Given the description of an element on the screen output the (x, y) to click on. 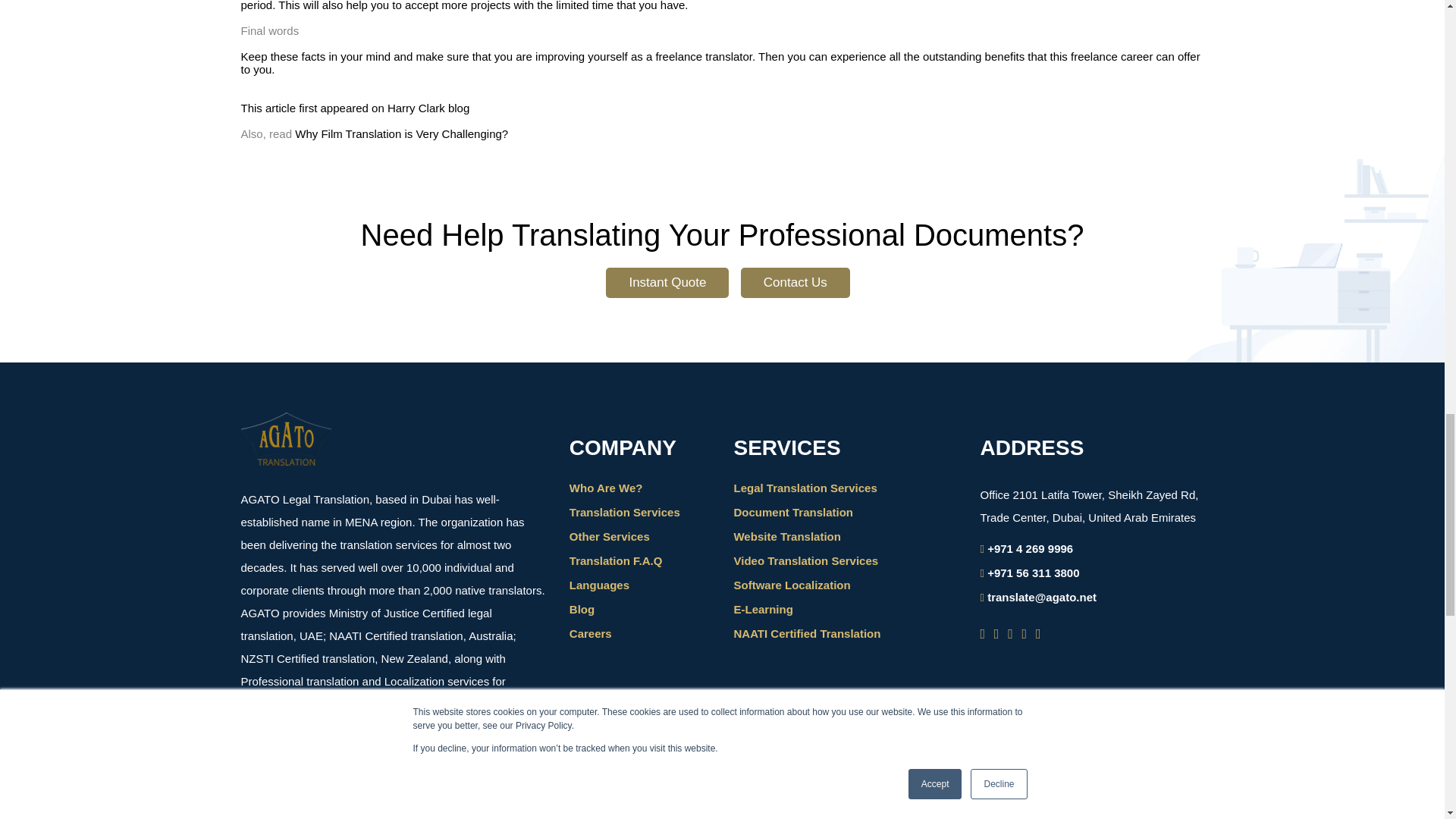
Translation Services (624, 512)
Instant Quote (667, 282)
Why Film Translation is Very Challenging? (401, 133)
Legal Translation Services (804, 487)
Careers (590, 633)
Who Are We? (606, 487)
Languages (598, 584)
Contact Us (795, 282)
Other Services (609, 535)
